Given the description of an element on the screen output the (x, y) to click on. 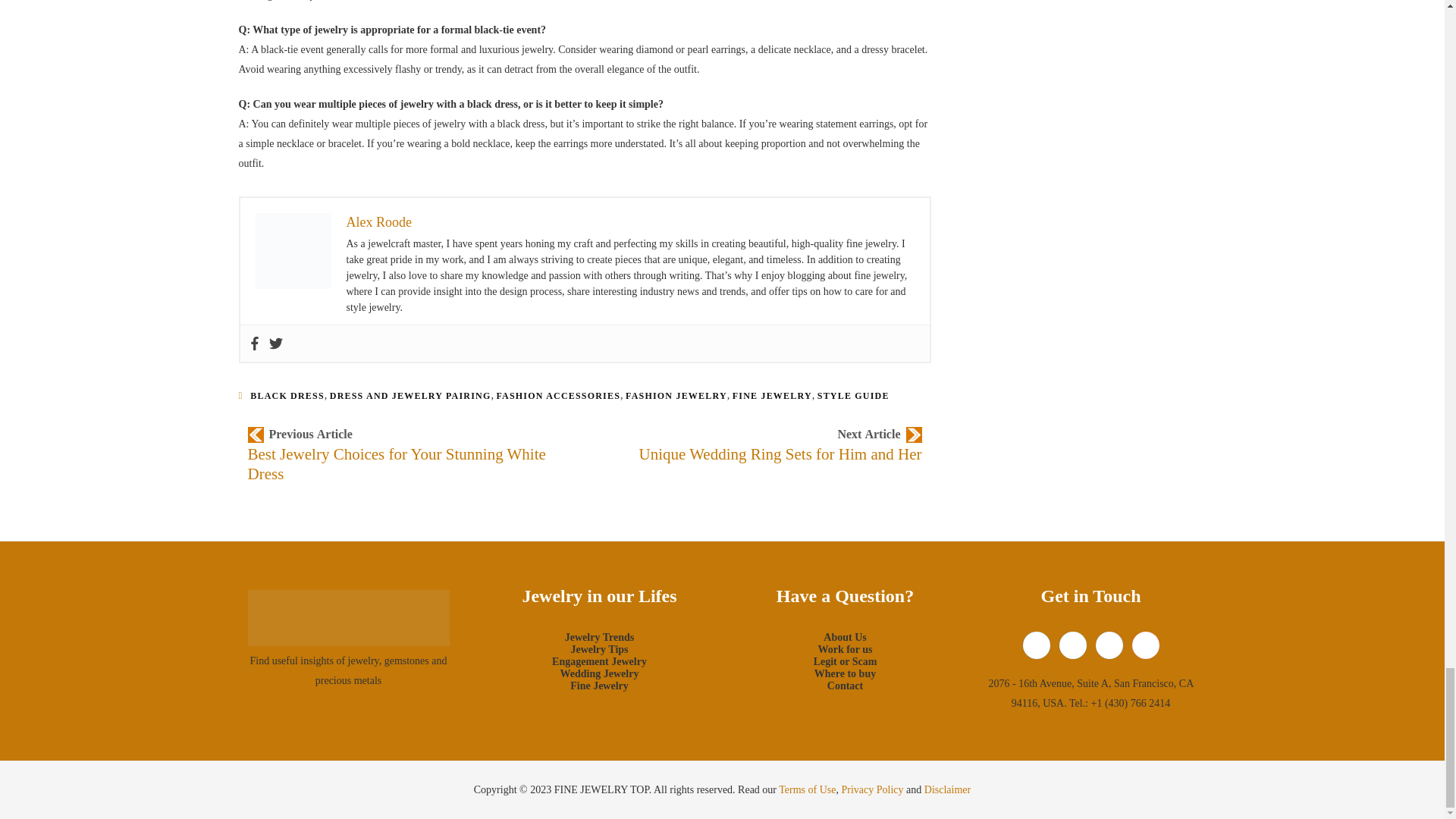
Fine Jewelry Top Blog (347, 617)
Alex Roode (378, 222)
DRESS AND JEWELRY PAIRING (411, 395)
Twitter (274, 343)
BLACK DRESS (287, 395)
FASHION ACCESSORIES (558, 395)
Facebook (253, 343)
